Given the description of an element on the screen output the (x, y) to click on. 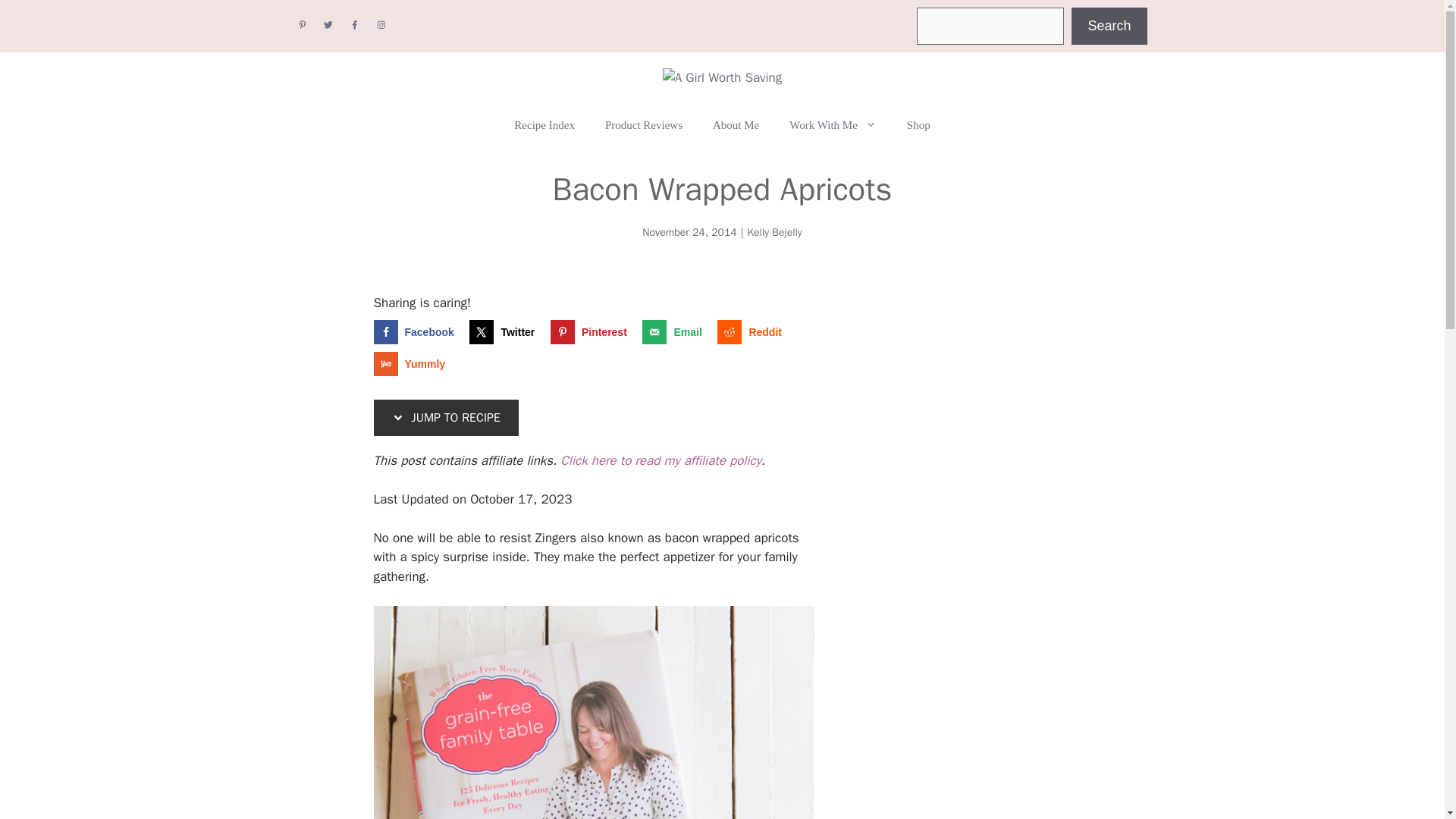
Save to Pinterest (591, 331)
Yummly (411, 363)
Shop (917, 125)
Email (674, 331)
Share on X (504, 331)
Pinterest (591, 331)
Work With Me (832, 125)
Product Reviews (643, 125)
Search (1109, 26)
Send over email (674, 331)
About Me (735, 125)
Kelly Bejelly (774, 232)
Share on Reddit (753, 331)
Recipe Index (544, 125)
Reddit (753, 331)
